Given the description of an element on the screen output the (x, y) to click on. 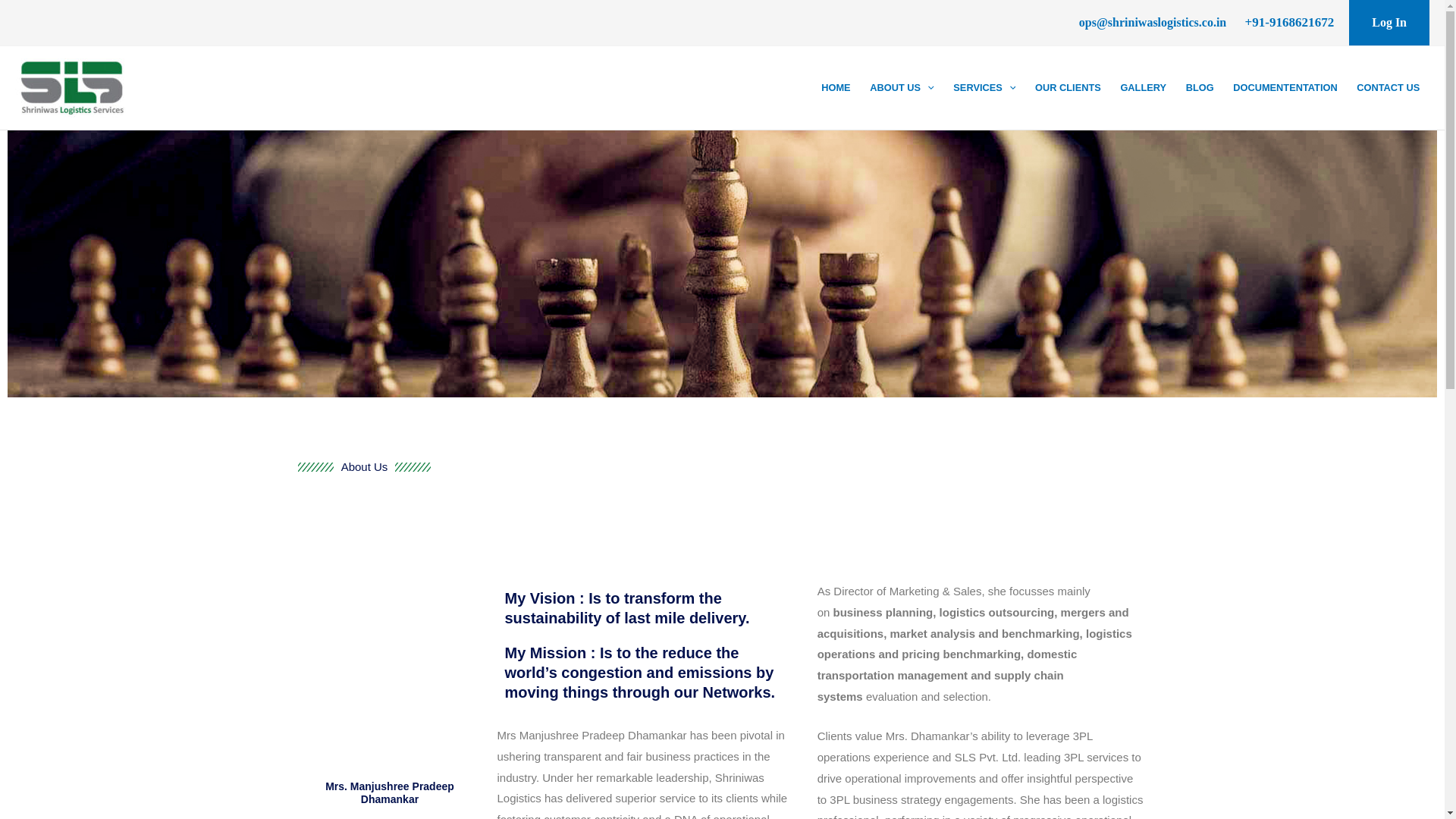
CONTACT US (1387, 87)
Log In (1389, 22)
DOCUMENTENTATION (1284, 87)
OUR CLIENTS (1067, 87)
ABOUT US (901, 87)
SERVICES (984, 87)
GALLERY (1143, 87)
